Given the description of an element on the screen output the (x, y) to click on. 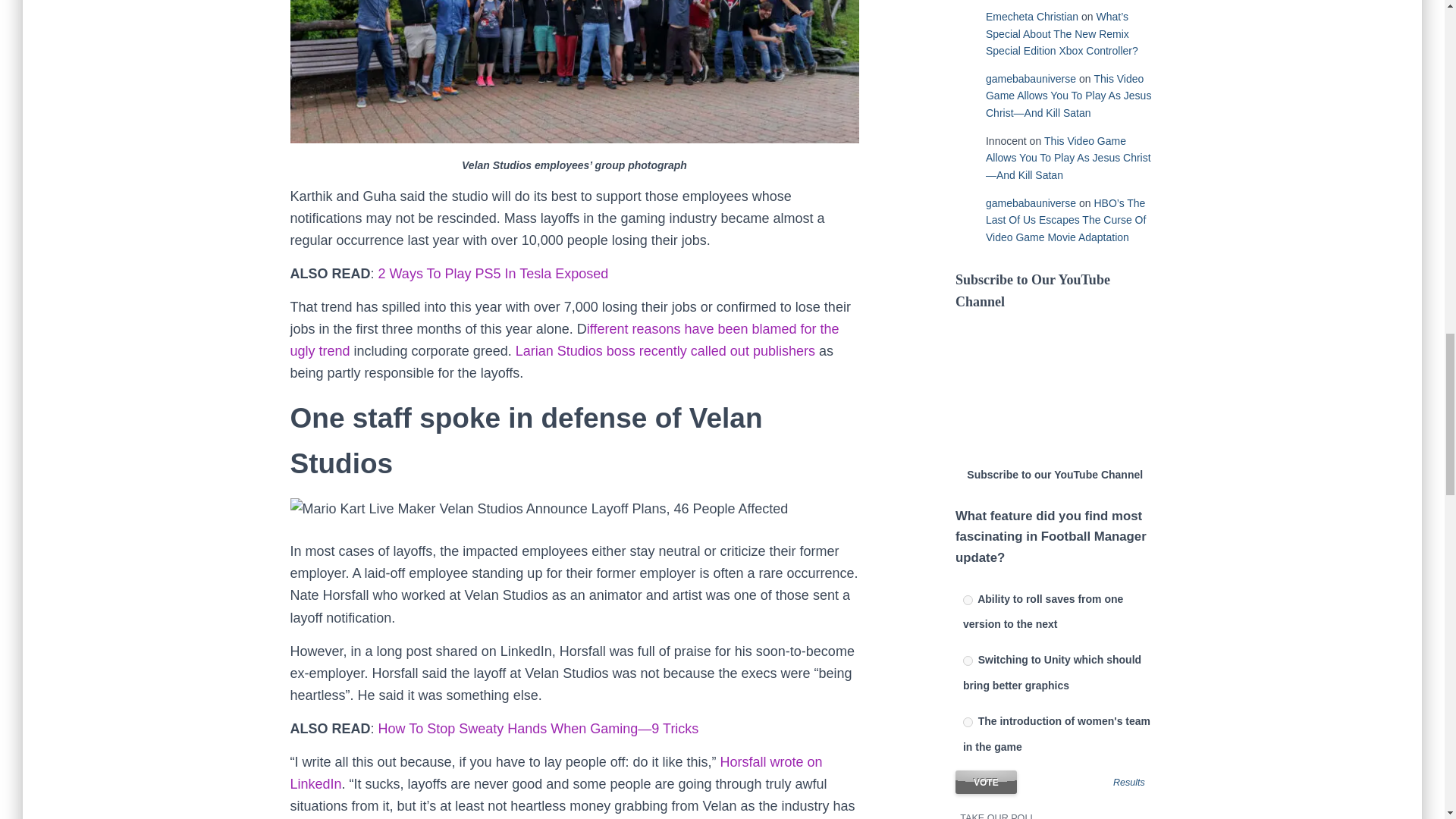
48 (967, 722)
2 Ways To Play PS5 In Tesla Exposed (493, 273)
47 (967, 660)
Larian Studios boss recently called out publishers (665, 350)
ifferent reasons have been blamed for the ugly trend (563, 339)
46 (967, 600)
Emecheta Christian (1031, 16)
Horsfall wrote on LinkedIn (555, 772)
Vote (985, 781)
